Given the description of an element on the screen output the (x, y) to click on. 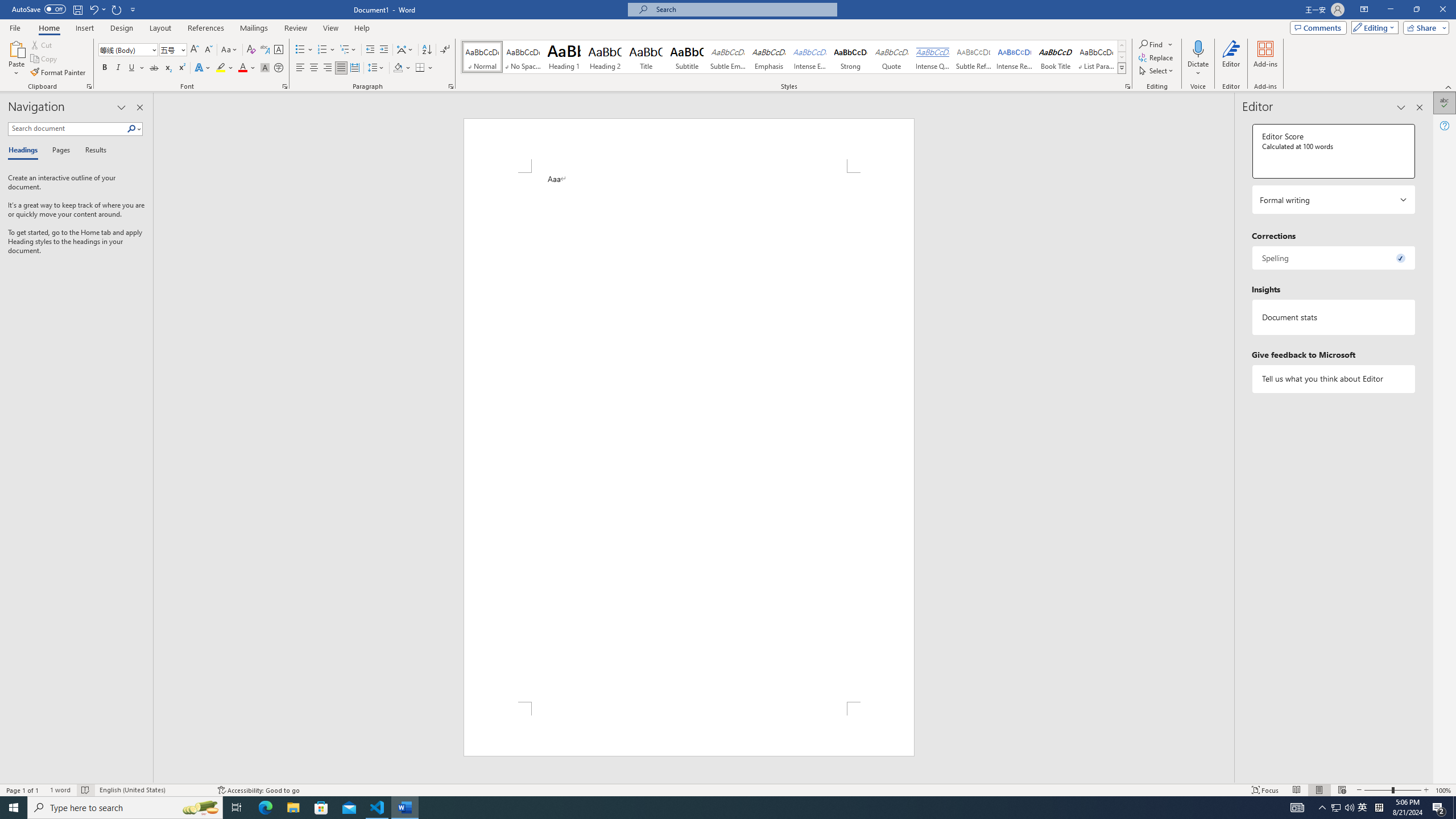
Page Number Page 1 of 1 (22, 790)
Subtle Reference (973, 56)
Phonetic Guide... (264, 49)
Italic (118, 67)
Tell us what you think about Editor (1333, 379)
Book Title (1055, 56)
Quote (891, 56)
Microsoft search (742, 9)
Select (1157, 69)
Font... (285, 85)
Document statistics (1333, 316)
